Given the description of an element on the screen output the (x, y) to click on. 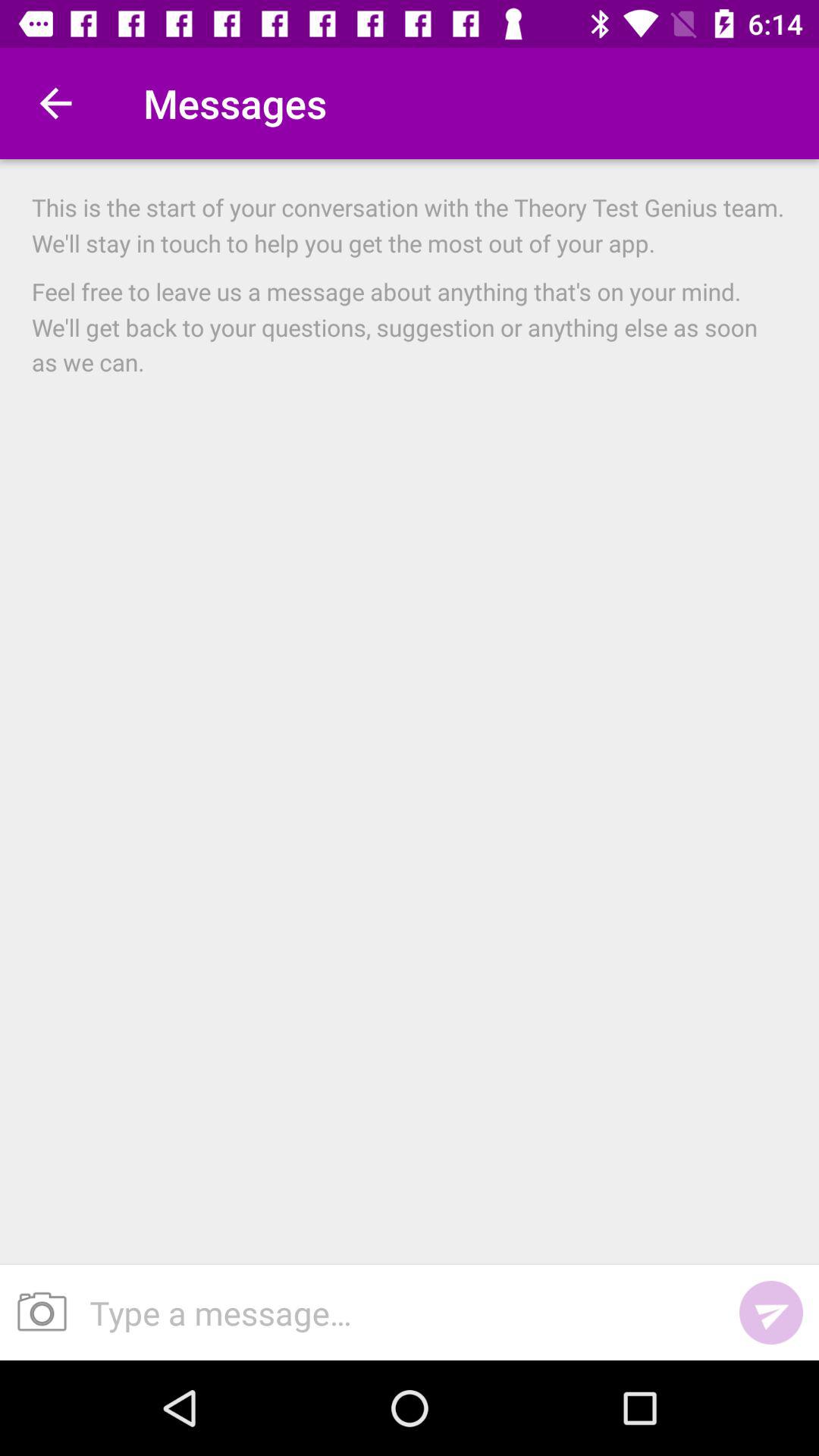
choose item at the bottom left corner (36, 1312)
